Given the description of an element on the screen output the (x, y) to click on. 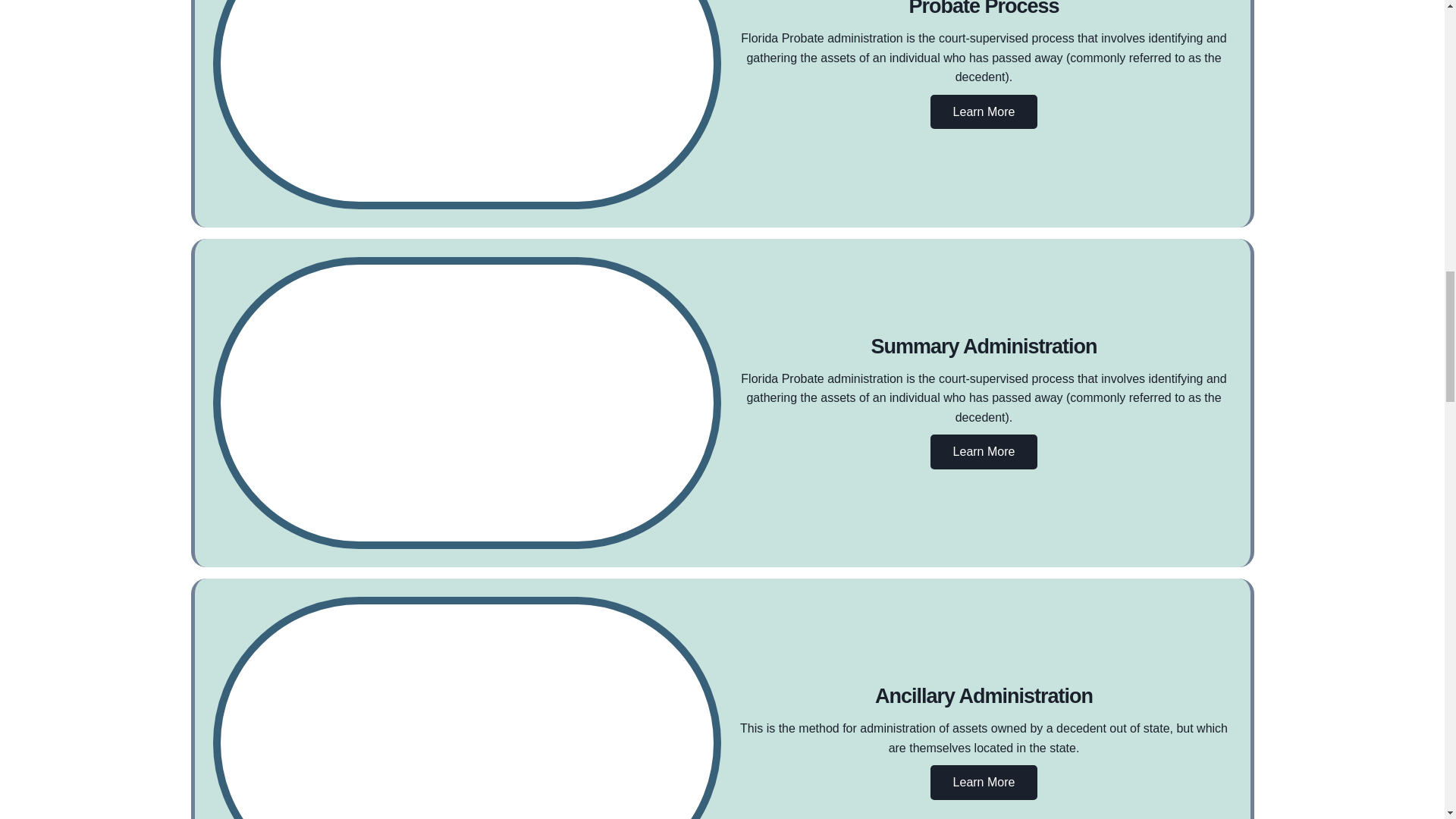
Learn More (984, 782)
Learn More (984, 451)
Learn More (984, 112)
